Given the description of an element on the screen output the (x, y) to click on. 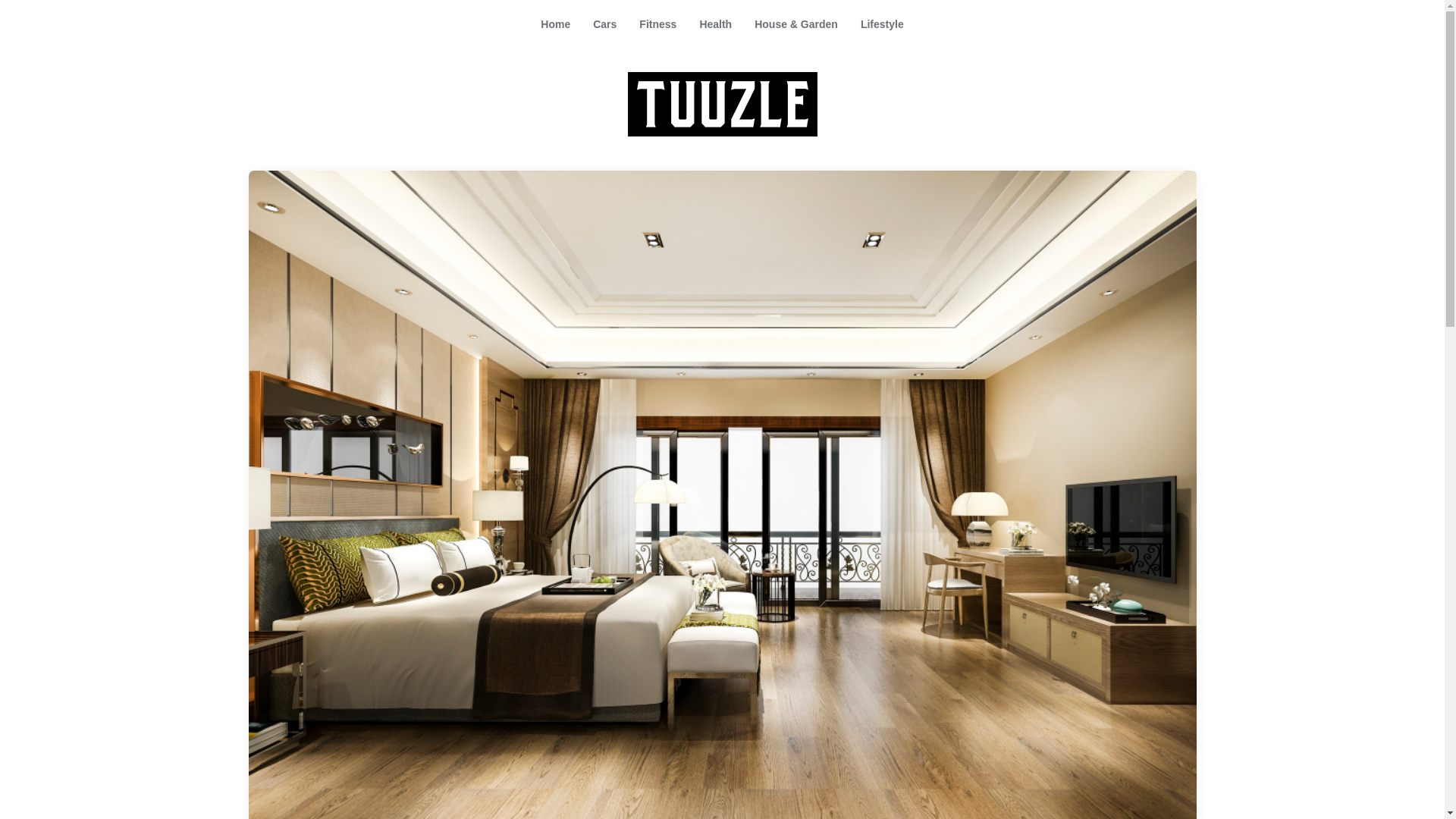
Cars (603, 24)
Health (714, 24)
Lifestyle (881, 24)
Home (554, 24)
Fitness (657, 24)
